Given the description of an element on the screen output the (x, y) to click on. 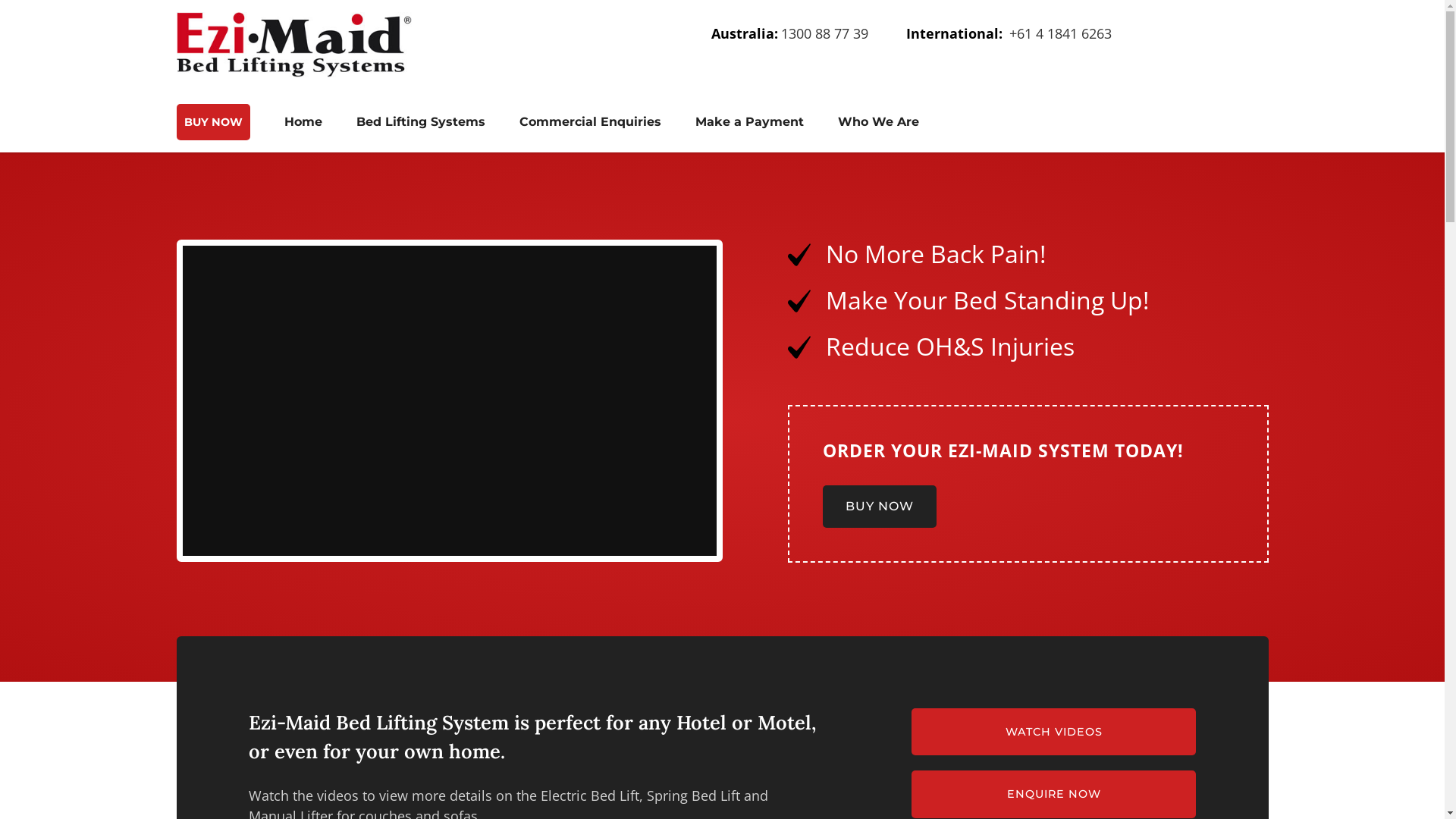
WATCH VIDEOS Element type: text (1053, 731)
1300 88 77 39 Element type: text (824, 33)
+61 4 1841 6263 Element type: text (1060, 33)
YouTube video player Element type: hover (448, 400)
Who We Are Element type: text (877, 121)
Home Element type: text (302, 121)
BUY NOW Element type: text (212, 121)
BUY NOW Element type: text (879, 506)
Commercial Enquiries Element type: text (589, 121)
Make a Payment Element type: text (748, 121)
ENQUIRE NOW Element type: text (1053, 793)
Bed Lifting Systems Element type: text (420, 121)
